Given the description of an element on the screen output the (x, y) to click on. 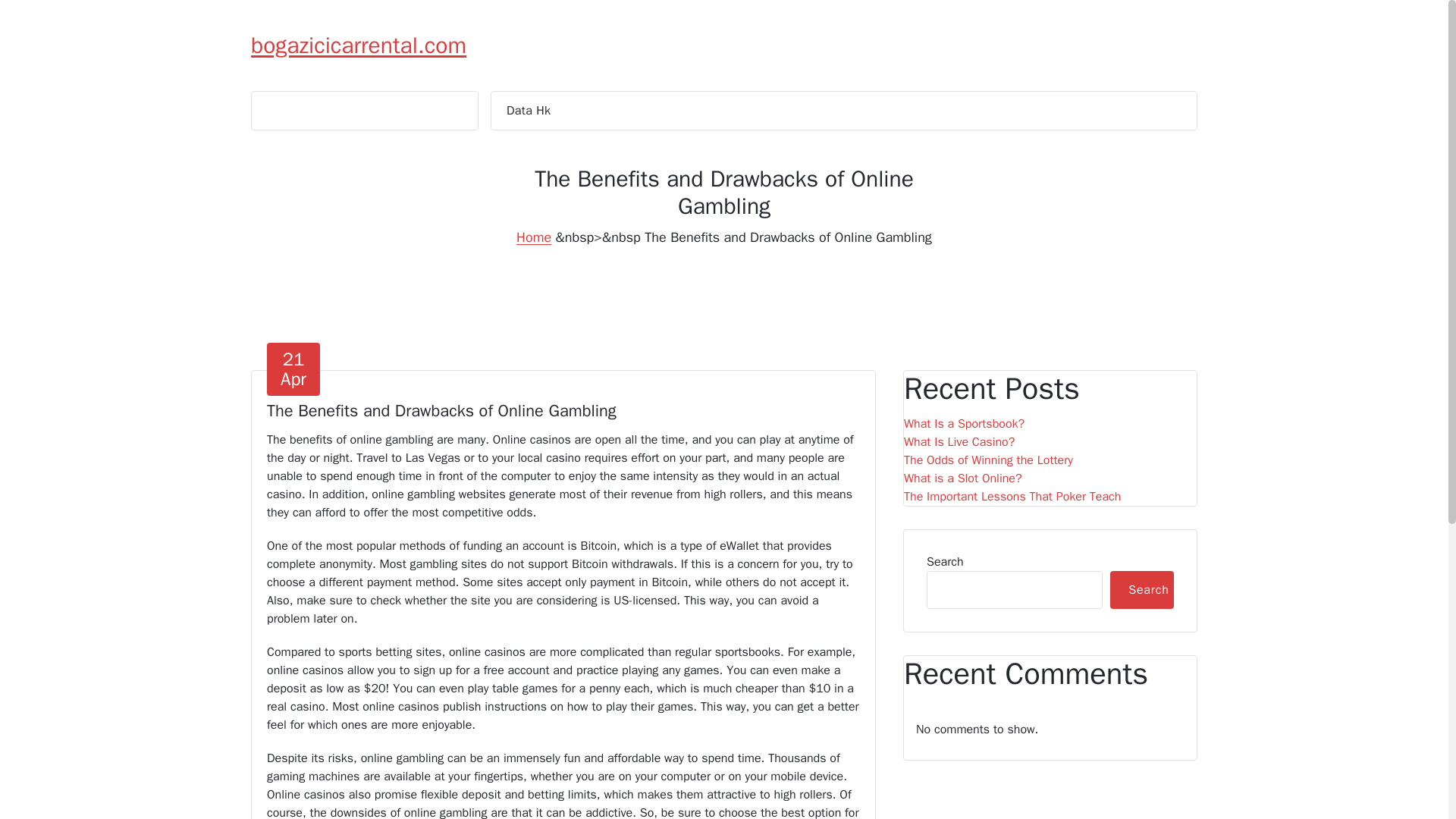
Data Hk (528, 110)
Data Hk (293, 369)
bogazicicarrental.com (528, 110)
What Is a Sportsbook? (357, 44)
What Is Live Casino? (964, 423)
What is a Slot Online? (959, 442)
Search (963, 478)
The Important Lessons That Poker Teach (1141, 589)
The Odds of Winning the Lottery (1012, 496)
Home (988, 460)
